Given the description of an element on the screen output the (x, y) to click on. 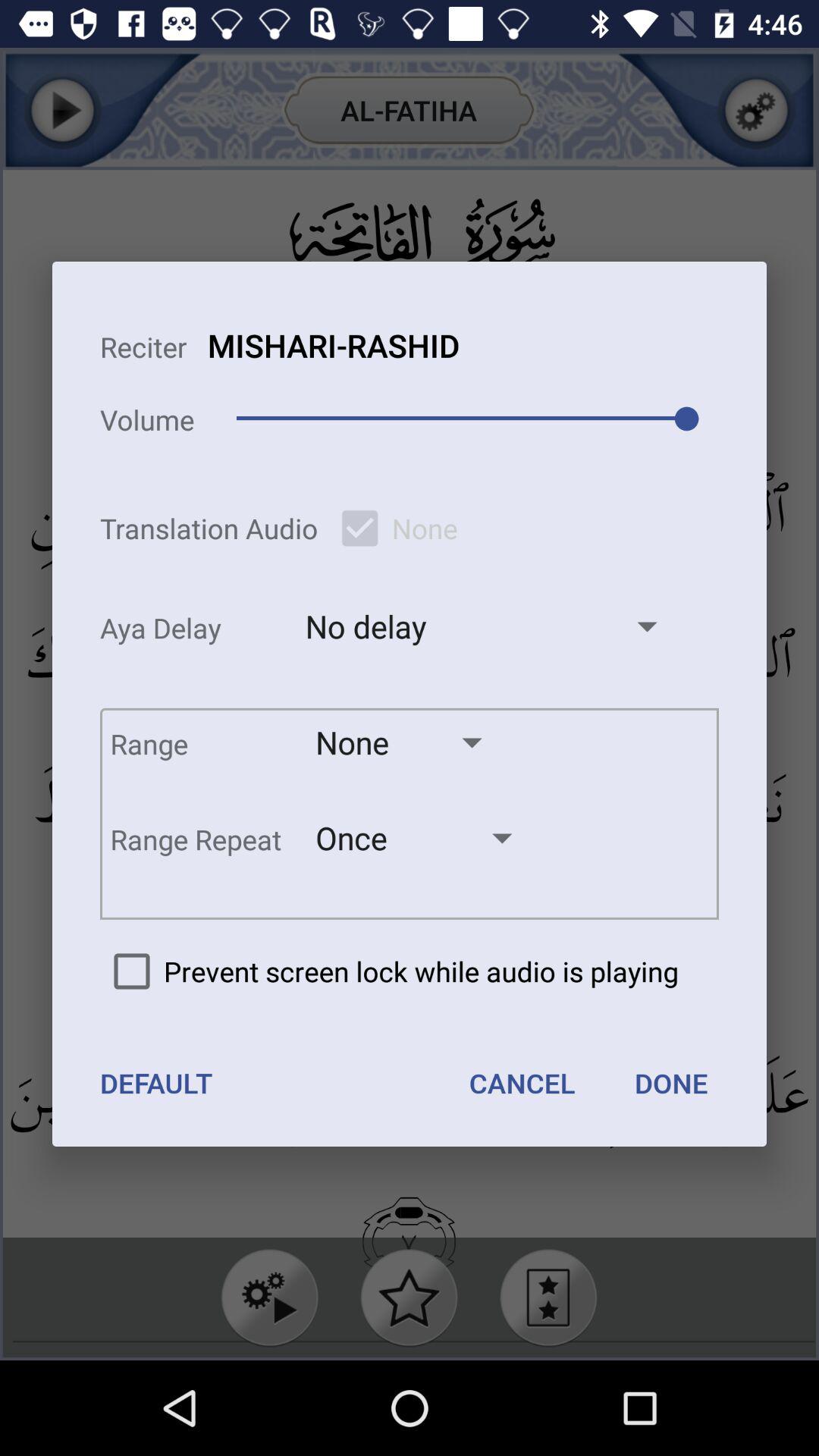
turn off the item to the left of the done icon (522, 1082)
